Given the description of an element on the screen output the (x, y) to click on. 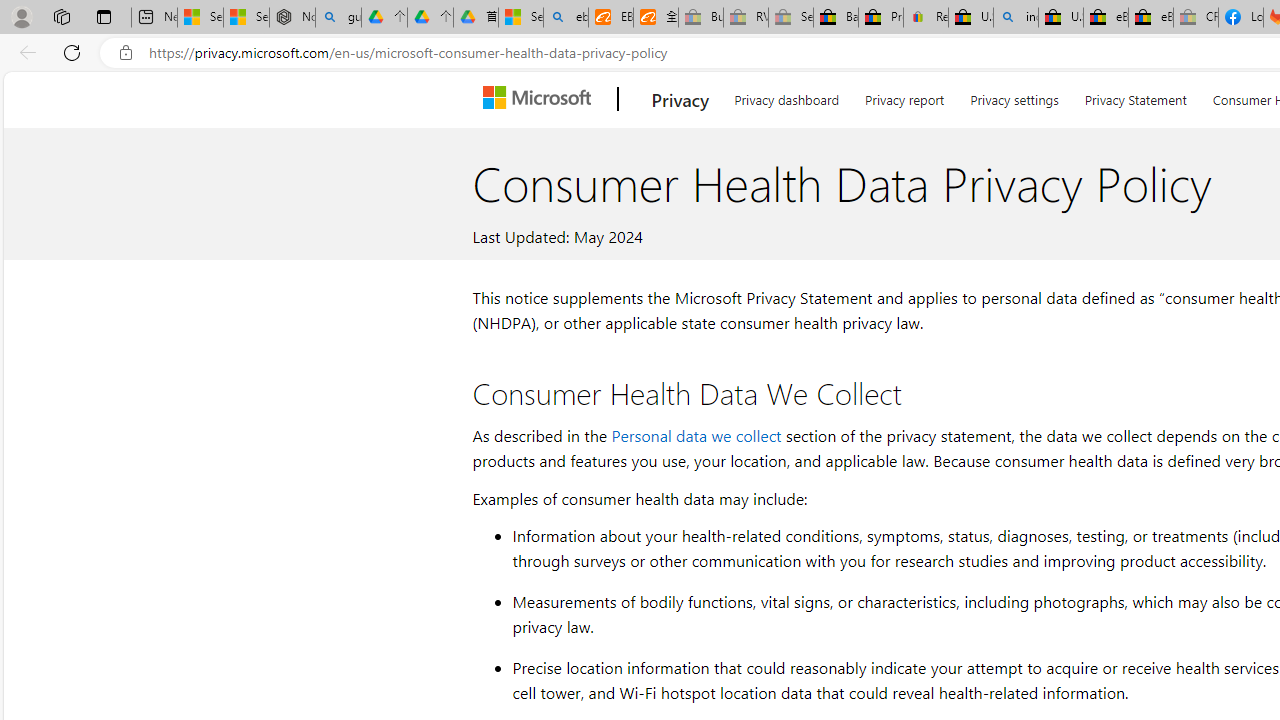
Privacy report (904, 96)
including - Search (1016, 17)
Privacy (680, 99)
Privacy settings (1014, 96)
Privacy Statement (1135, 96)
Log into Facebook (1240, 17)
Press Room - eBay Inc. (880, 17)
Buy Auto Parts & Accessories | eBay - Sleeping (700, 17)
